Given the description of an element on the screen output the (x, y) to click on. 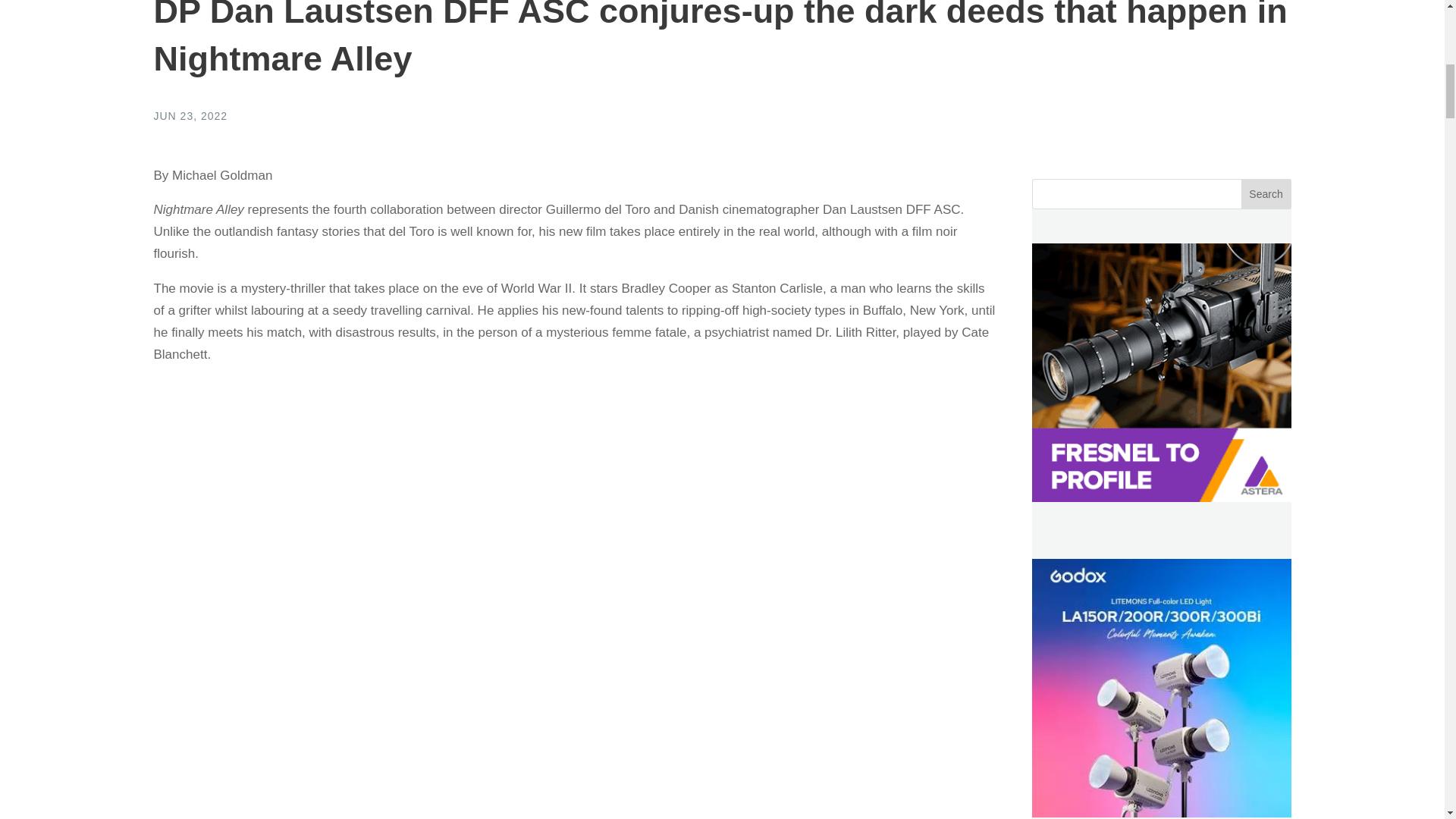
Search (1266, 194)
Search (1266, 194)
